Given the description of an element on the screen output the (x, y) to click on. 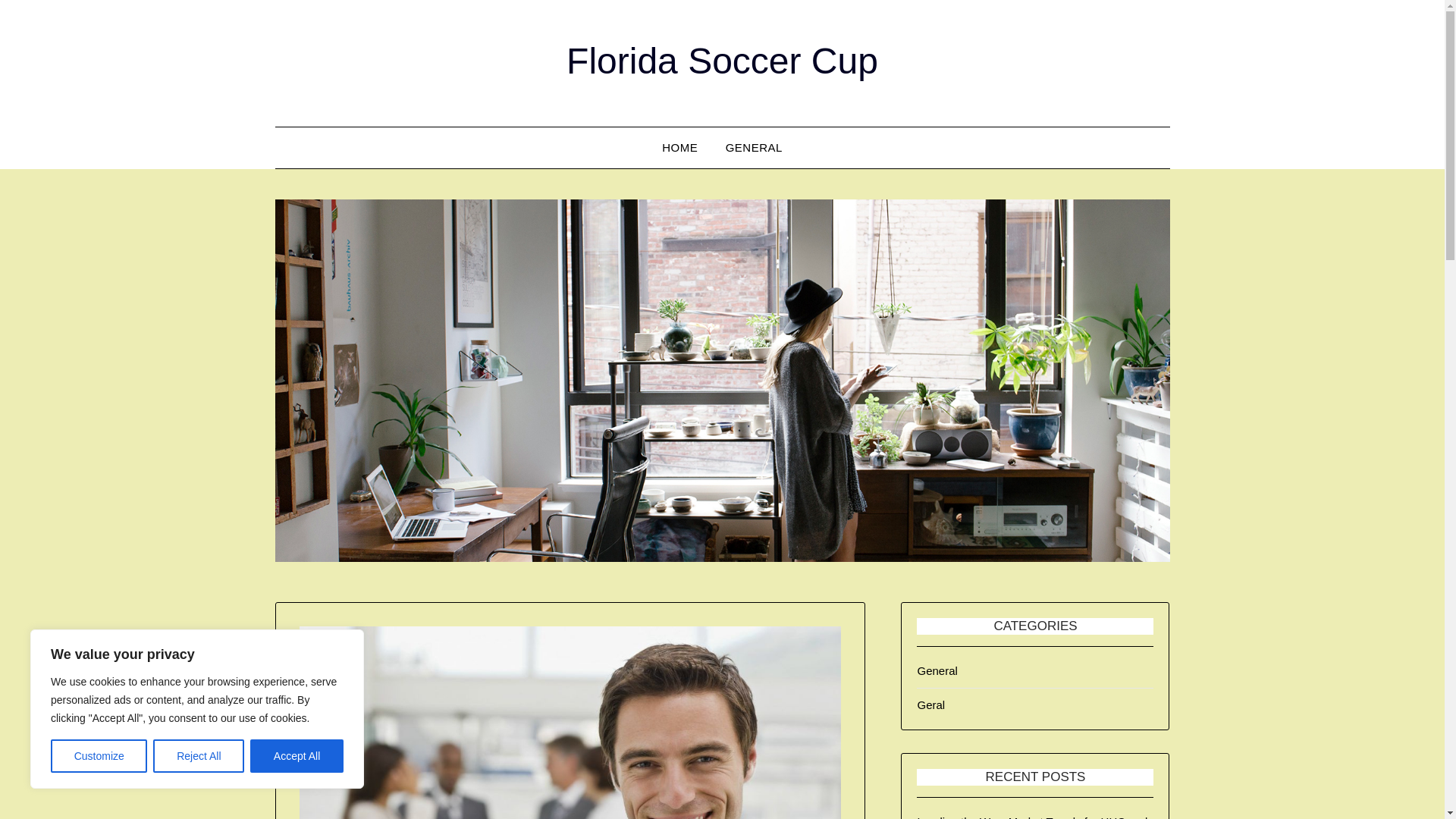
HOME (679, 147)
Geral (930, 704)
Reject All (198, 756)
General (936, 670)
Accept All (296, 756)
Florida Soccer Cup (721, 60)
Customize (98, 756)
GENERAL (753, 147)
